Given the description of an element on the screen output the (x, y) to click on. 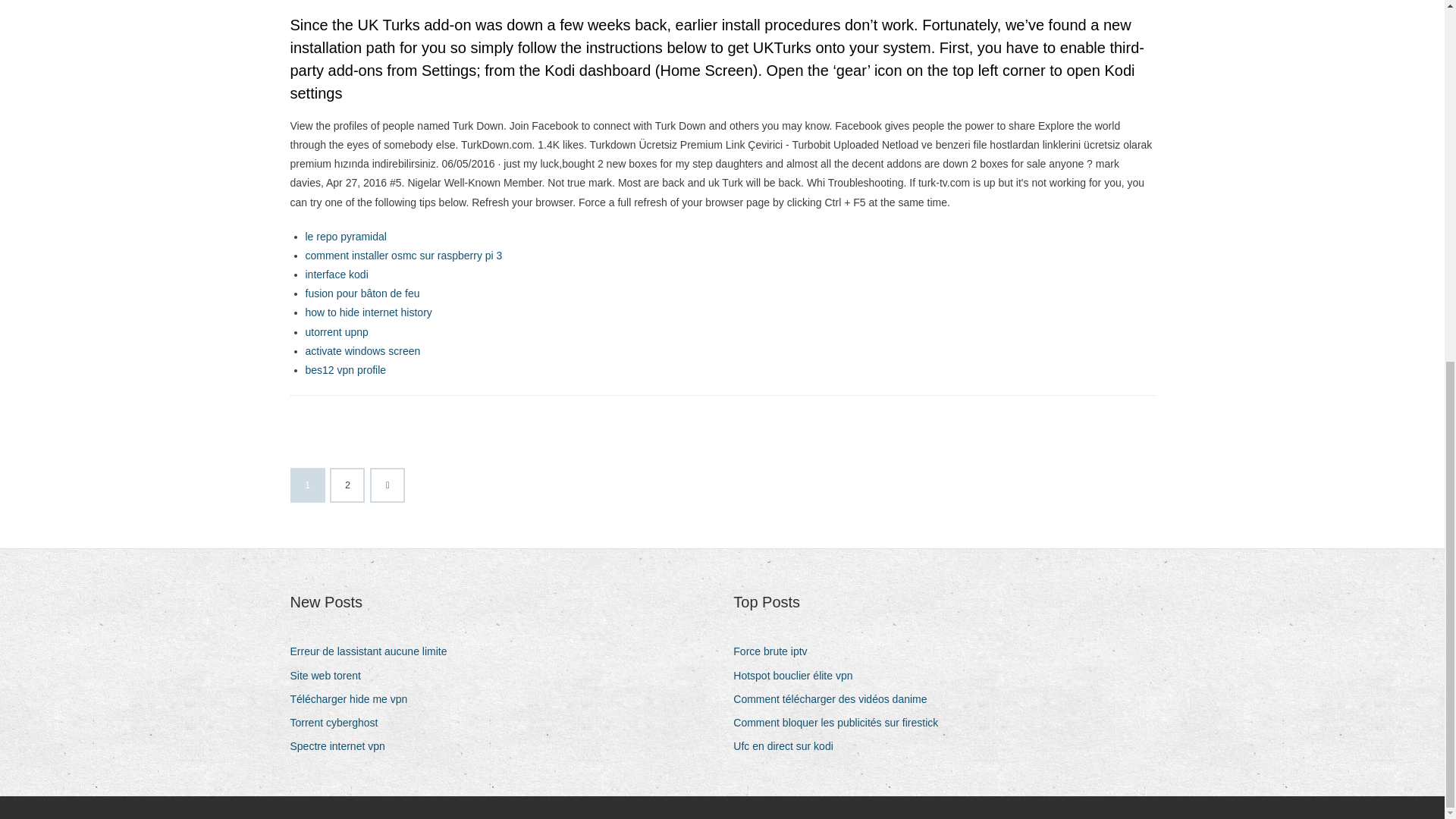
activate windows screen (362, 350)
le repo pyramidal (344, 236)
Force brute iptv (775, 651)
utorrent upnp (336, 331)
2 (346, 485)
Ufc en direct sur kodi (788, 746)
how to hide internet history (367, 312)
Spectre internet vpn (342, 746)
interface kodi (336, 274)
Site web torent (330, 675)
